Given the description of an element on the screen output the (x, y) to click on. 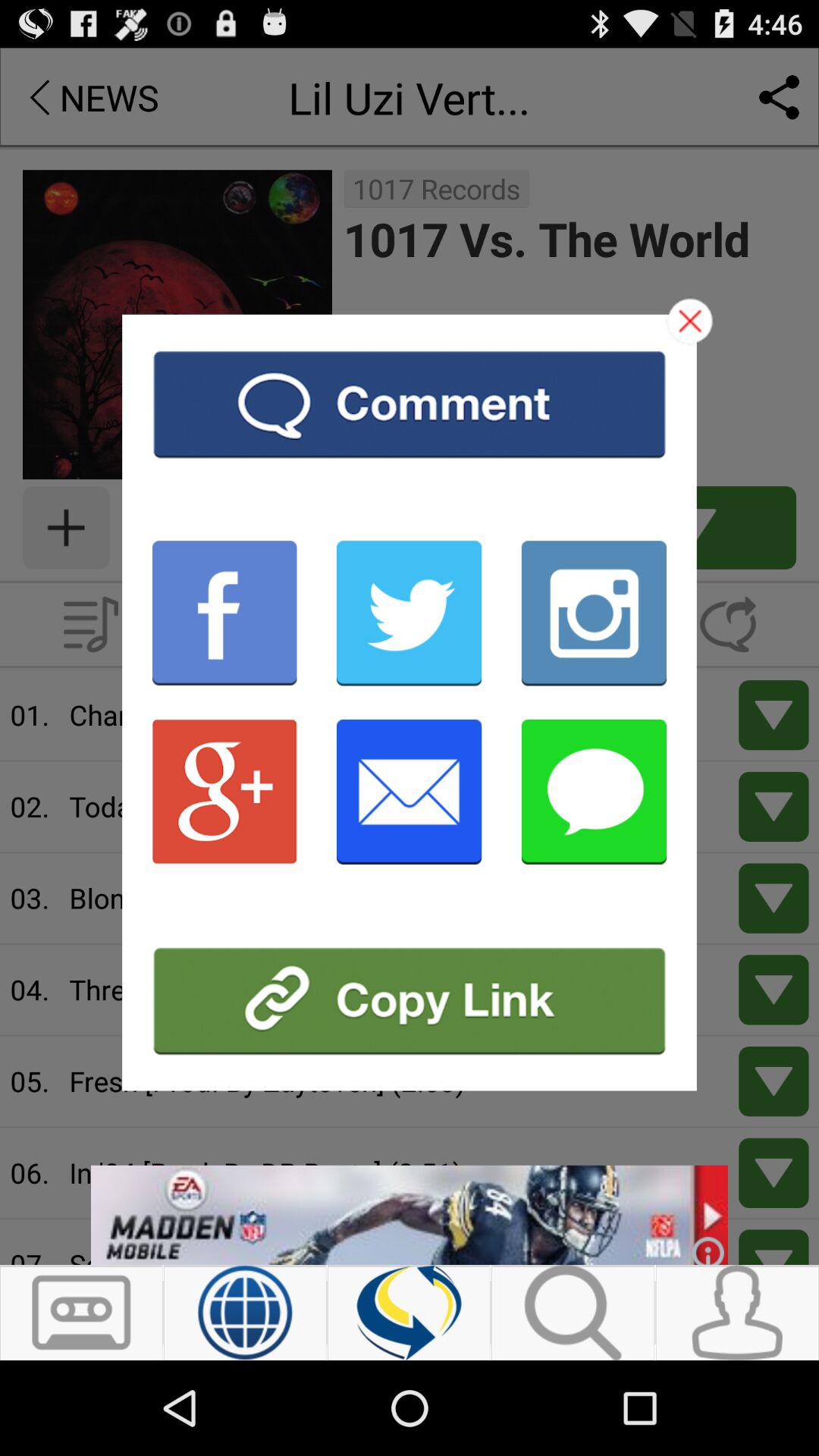
social media g+ (224, 791)
